Given the description of an element on the screen output the (x, y) to click on. 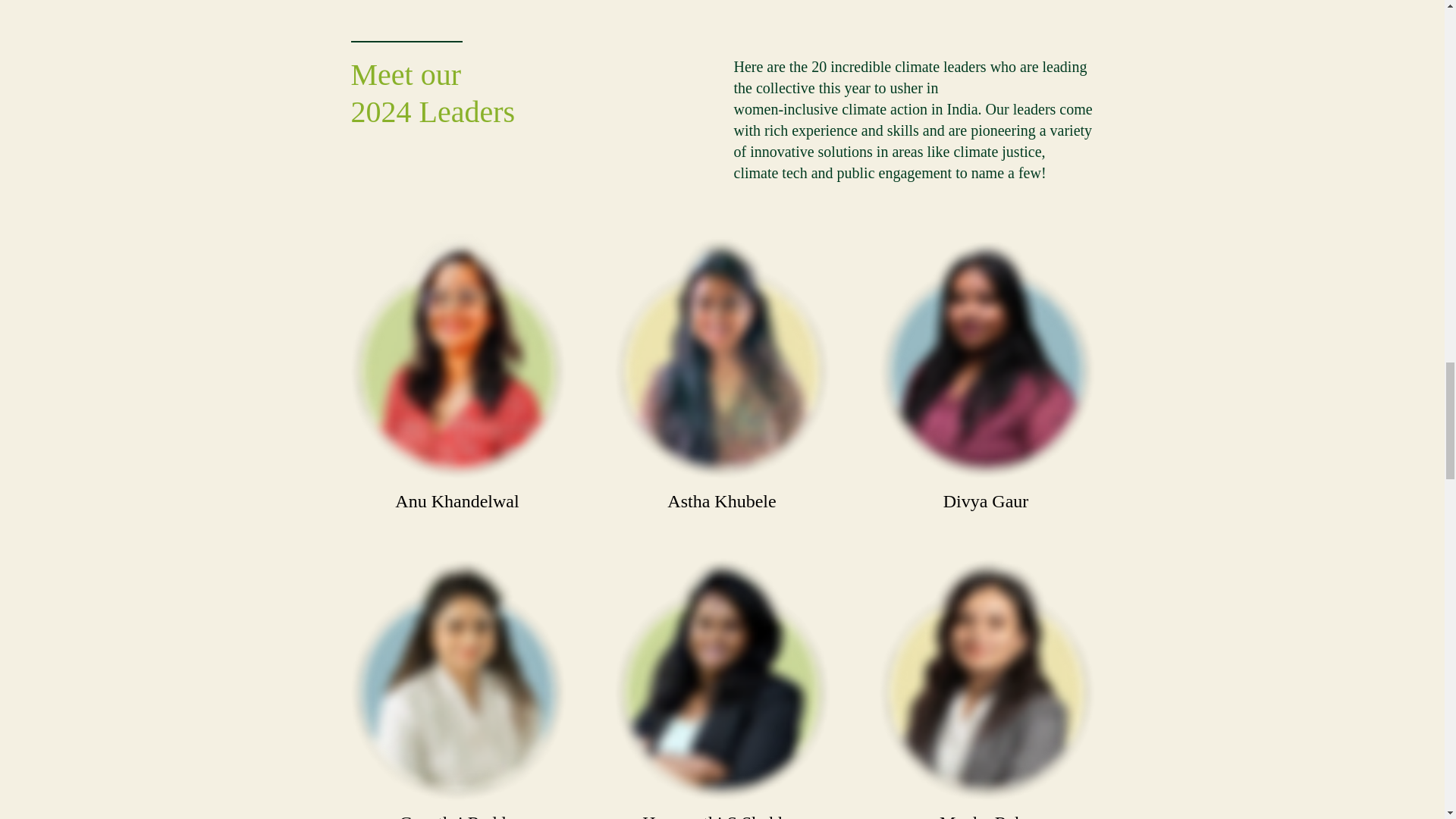
Megha Raha (986, 682)
Gayathri Reddy (457, 682)
Hemavathi S Shekhar (721, 682)
Divya Gaur (986, 361)
Anu Khandelwal (457, 361)
Astha Khubele (721, 361)
